Given the description of an element on the screen output the (x, y) to click on. 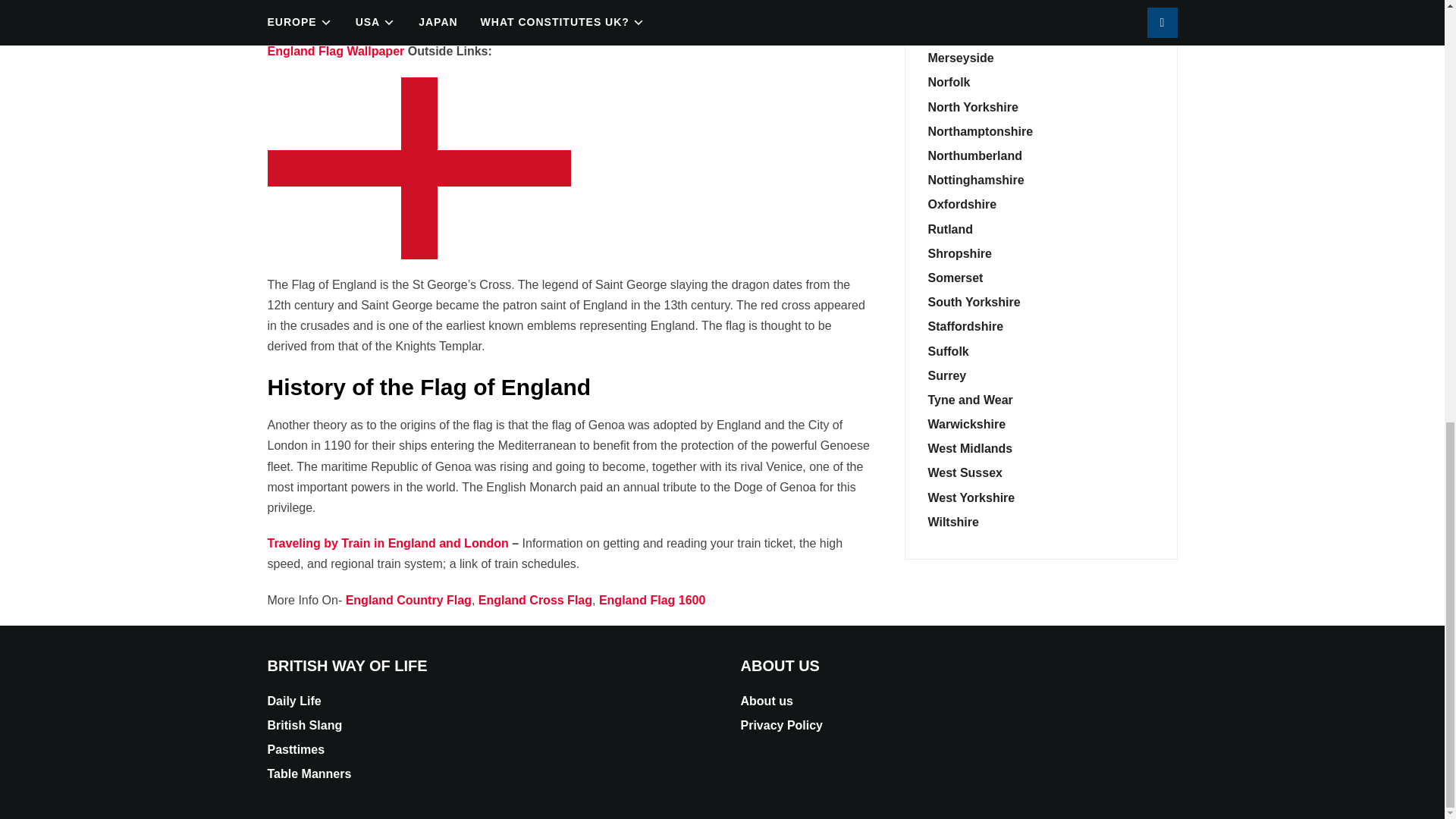
England Flag Wallpaper (335, 51)
England Flag Home (323, 30)
England Cross Flag (812, 30)
England Flag Home (451, 30)
London England Flag (584, 30)
England Football Flag (712, 30)
